Given the description of an element on the screen output the (x, y) to click on. 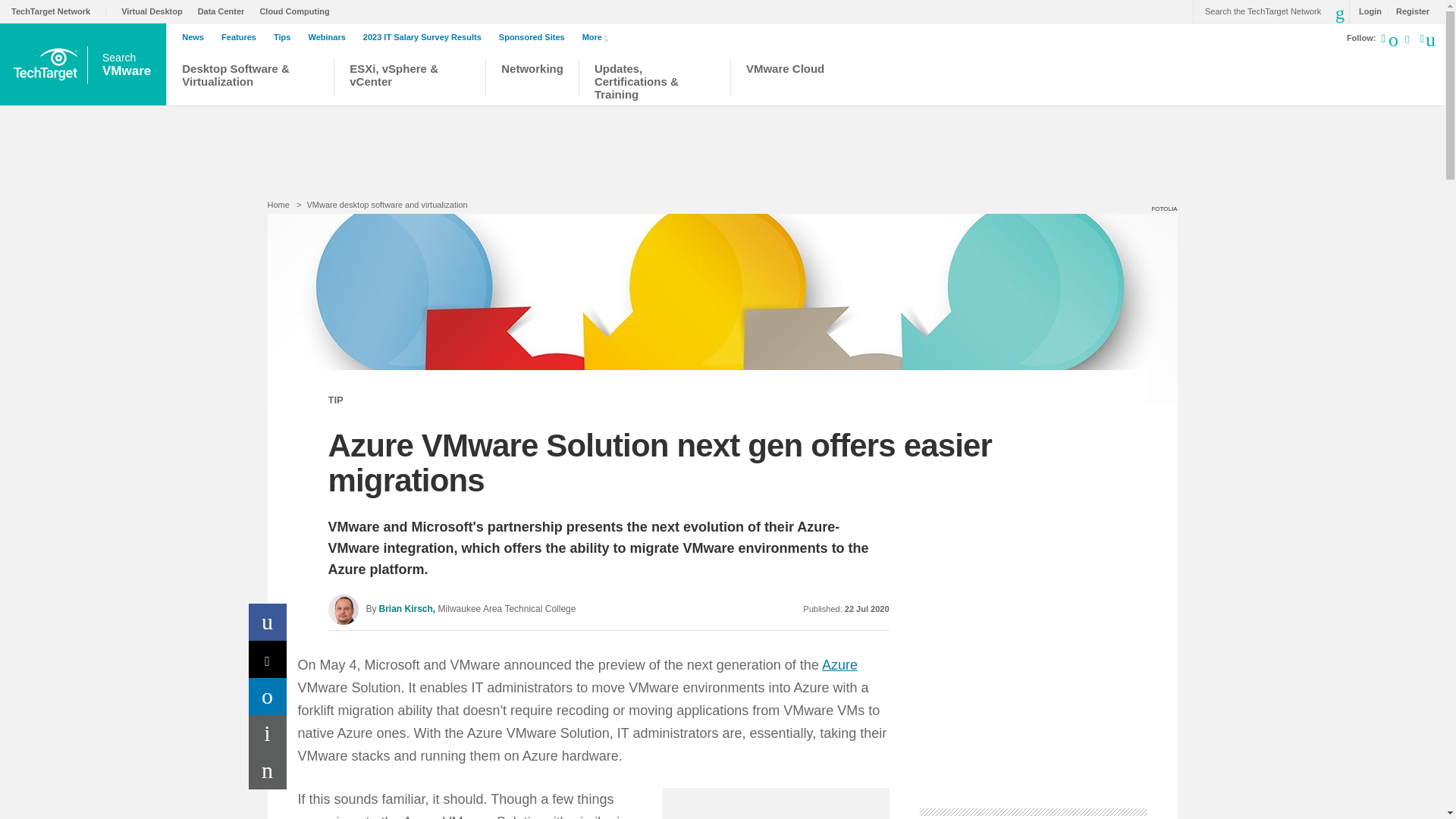
Data Center (224, 10)
Share on Facebook (267, 621)
2023 IT Salary Survey Results (425, 36)
Networking (531, 79)
Share on X (267, 659)
Share on LinkedIn (267, 696)
Tips (285, 36)
TechTarget Network (58, 10)
Home (277, 204)
VMware desktop software and virtualization (386, 204)
Features (242, 36)
Print This Page (267, 733)
Sponsored Sites (535, 36)
Login (1366, 10)
Email a Friend (267, 770)
